Given the description of an element on the screen output the (x, y) to click on. 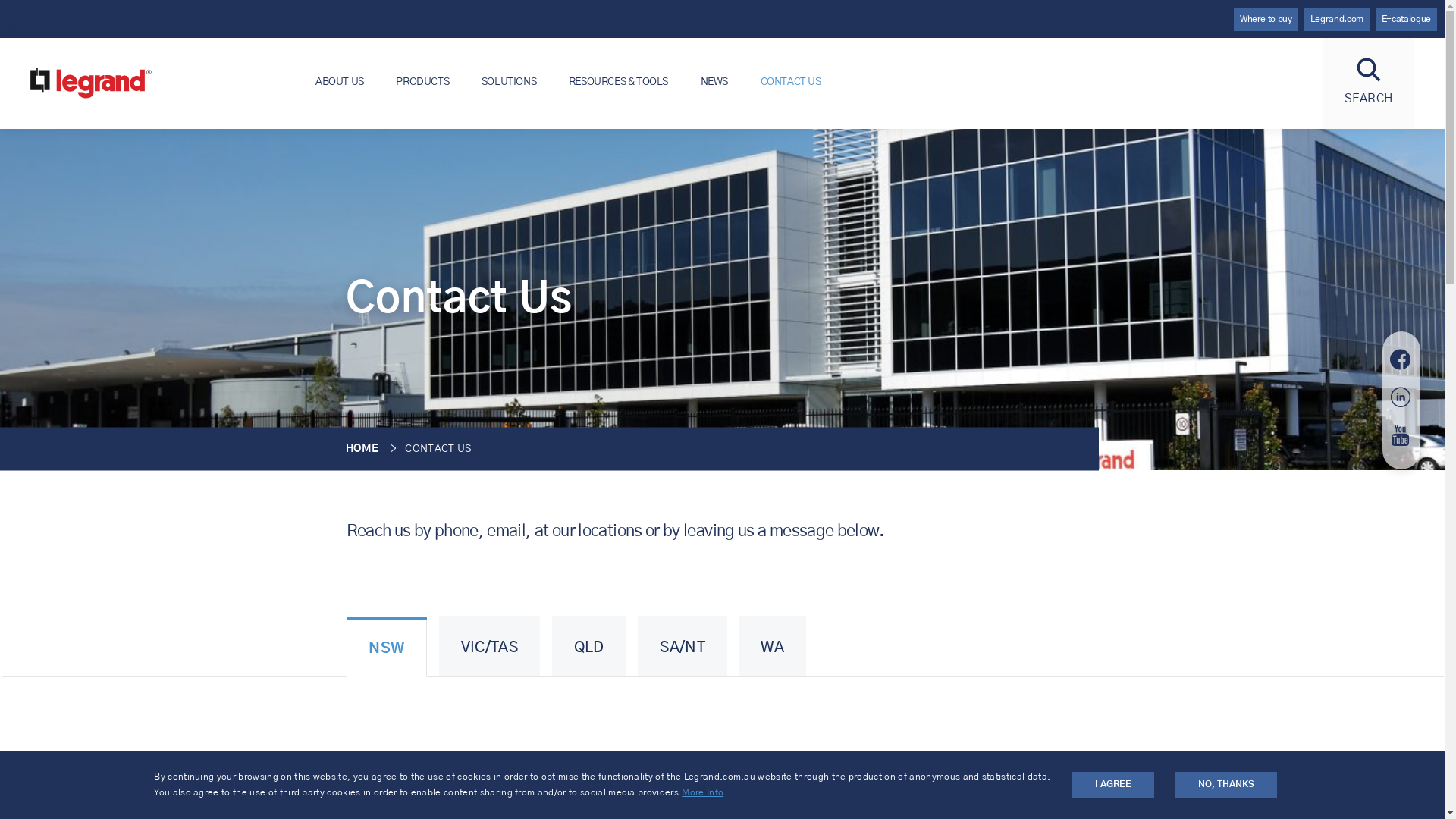
CONTACT US Element type: text (790, 81)
ABOUT US Element type: text (339, 81)
SA/NT Element type: text (681, 645)
Where to buy Element type: text (1265, 19)
RESOURCES & TOOLS Element type: text (618, 81)
Skip to main content Element type: text (0, 0)
More Info Element type: text (702, 792)
E-catalogue Element type: text (1406, 19)
QLD Element type: text (589, 645)
VIC/TAS Element type: text (489, 645)
NO, THANKS Element type: text (1226, 784)
SOLUTIONS Element type: text (509, 81)
I AGREE Element type: text (1113, 784)
PRODUCTS Element type: text (422, 81)
WA Element type: text (772, 645)
NEWS Element type: text (713, 81)
HOME Element type: text (361, 448)
Legrand.com Element type: text (1336, 19)
Search Element type: text (978, 89)
NSW Element type: text (385, 646)
